Given the description of an element on the screen output the (x, y) to click on. 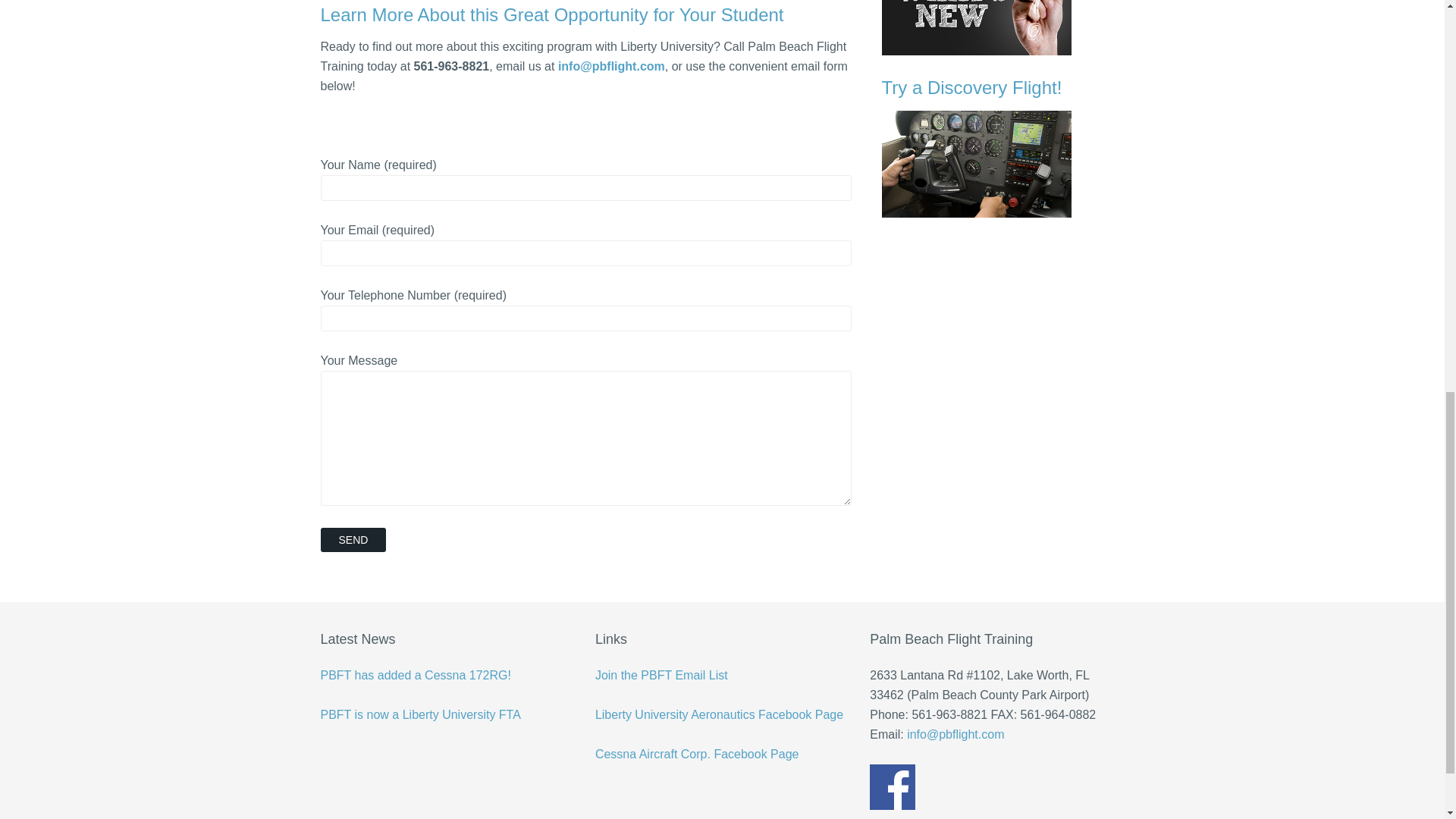
Send (352, 539)
PBFT is now a Liberty University FTA (419, 714)
PBFT News (1002, 27)
PBFT has added a Cessna 172RG! (415, 675)
Cessna Aircraft Corp. Facebook Page (697, 753)
Try a Discovery Flight! (1002, 146)
Join the PBFT Email List (661, 675)
Liberty University Aeronautics Facebook Page (719, 714)
Send (352, 539)
